Given the description of an element on the screen output the (x, y) to click on. 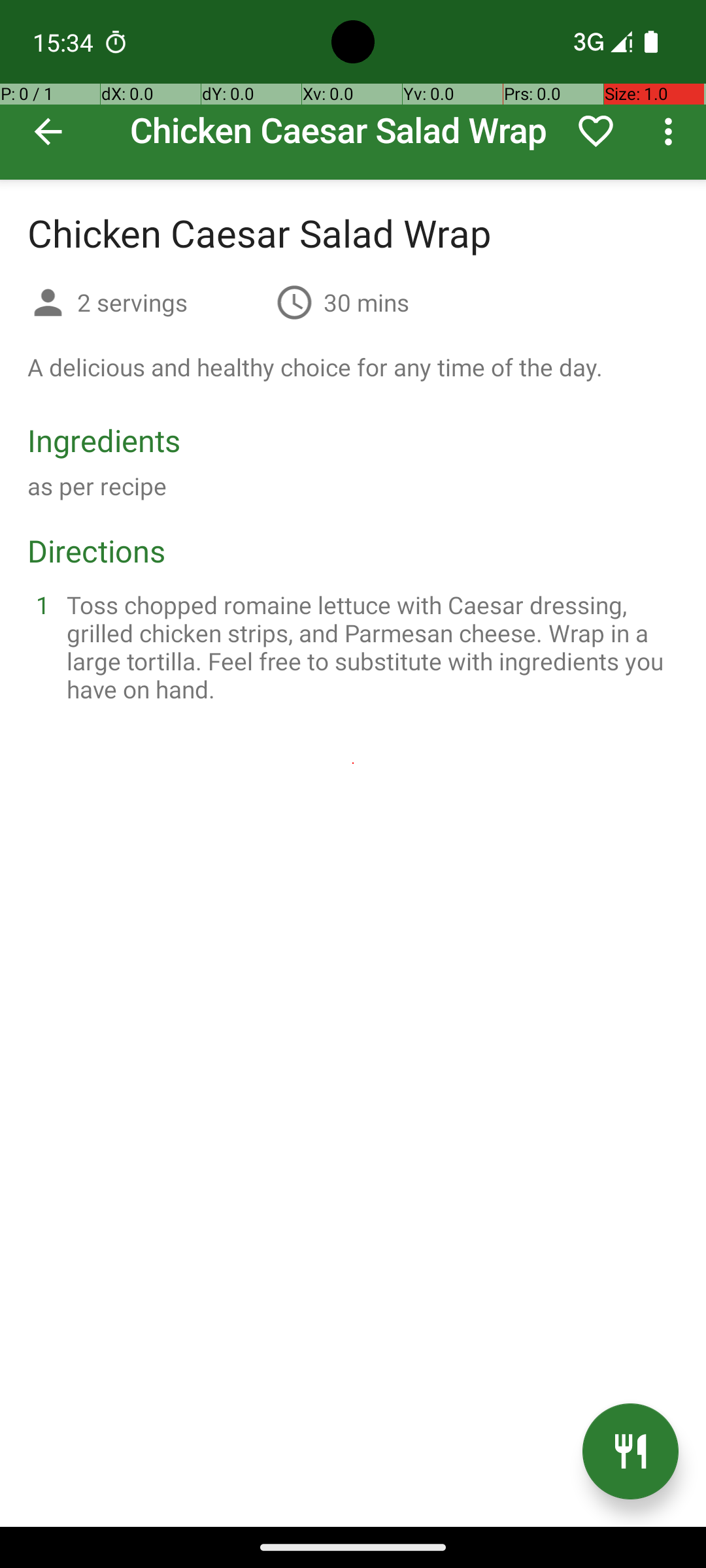
Toss chopped romaine lettuce with Caesar dressing, grilled chicken strips, and Parmesan cheese. Wrap in a large tortilla. Feel free to substitute with ingredients you have on hand. Element type: android.widget.TextView (368, 646)
